Given the description of an element on the screen output the (x, y) to click on. 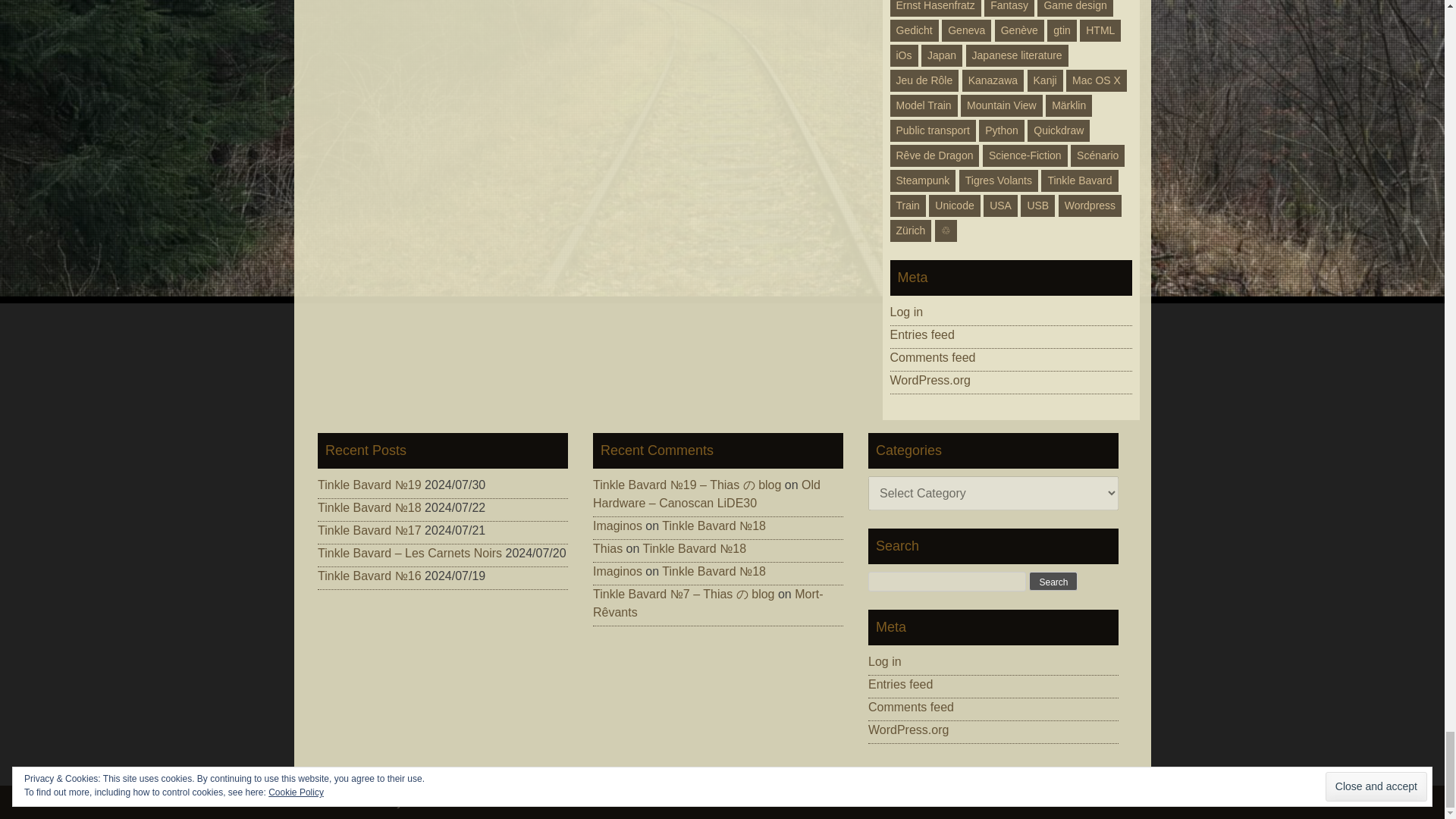
Search (1053, 581)
